Given the description of an element on the screen output the (x, y) to click on. 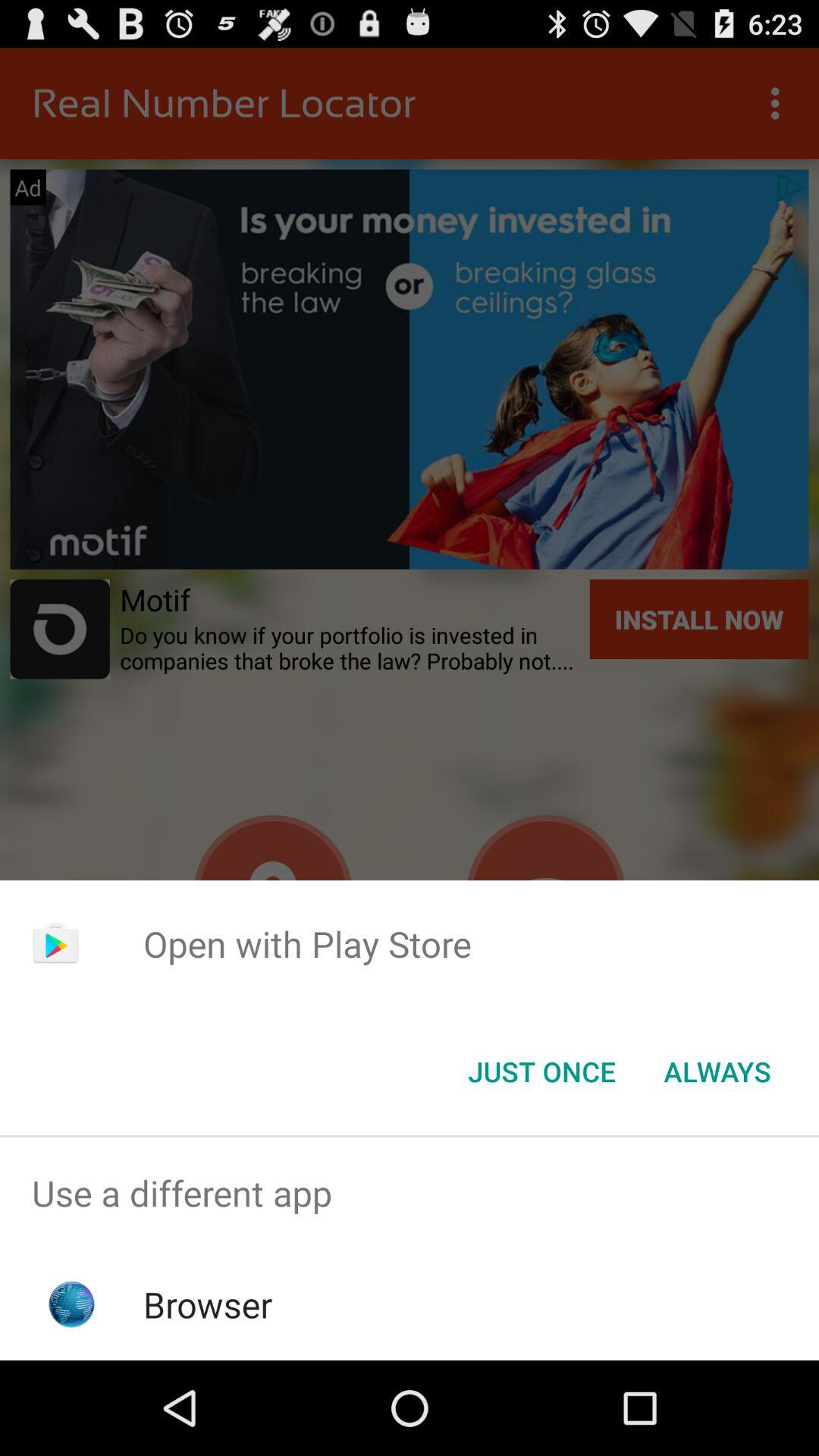
launch button to the left of always (541, 1071)
